Given the description of an element on the screen output the (x, y) to click on. 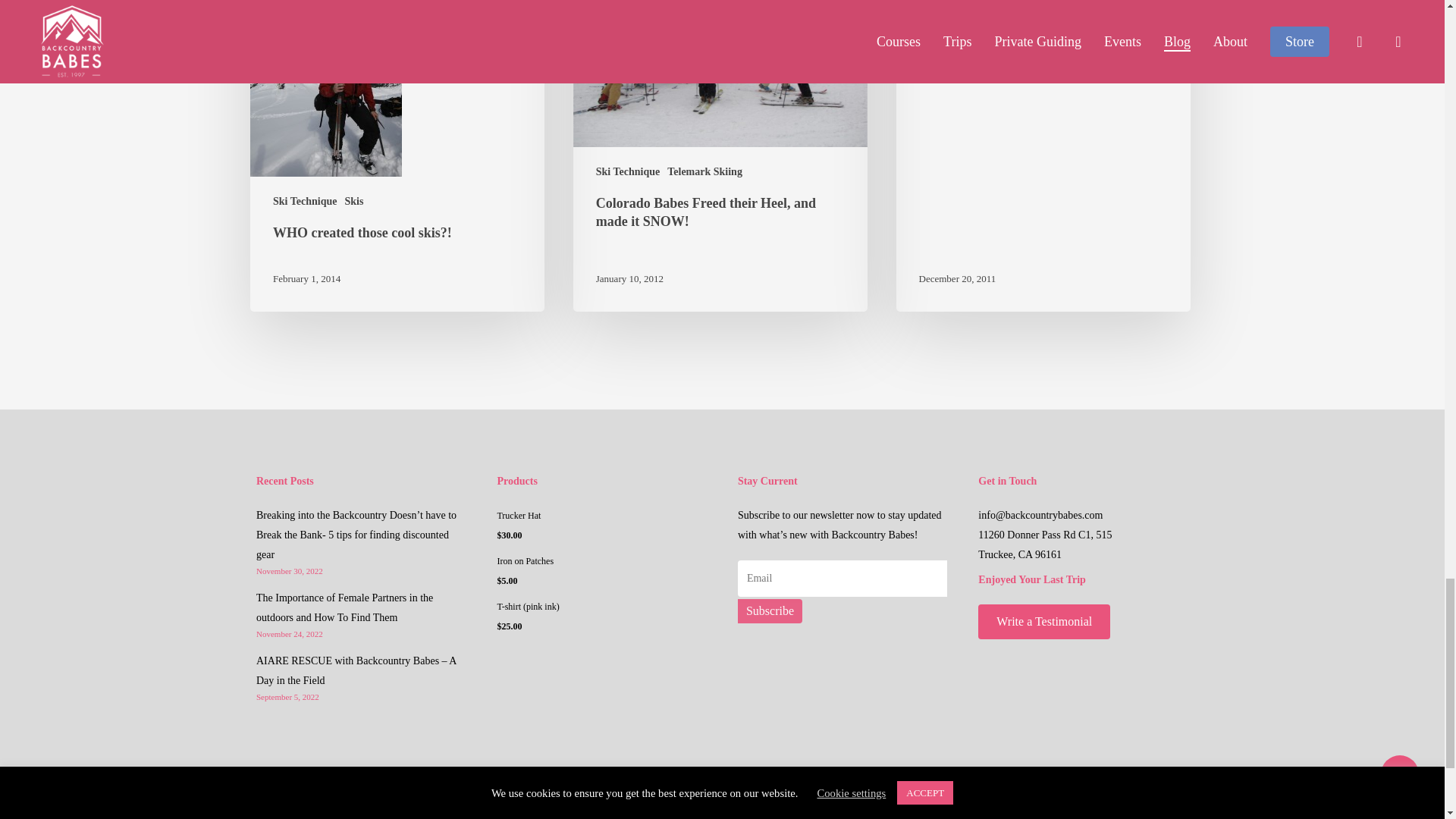
Subscribe (770, 610)
